Given the description of an element on the screen output the (x, y) to click on. 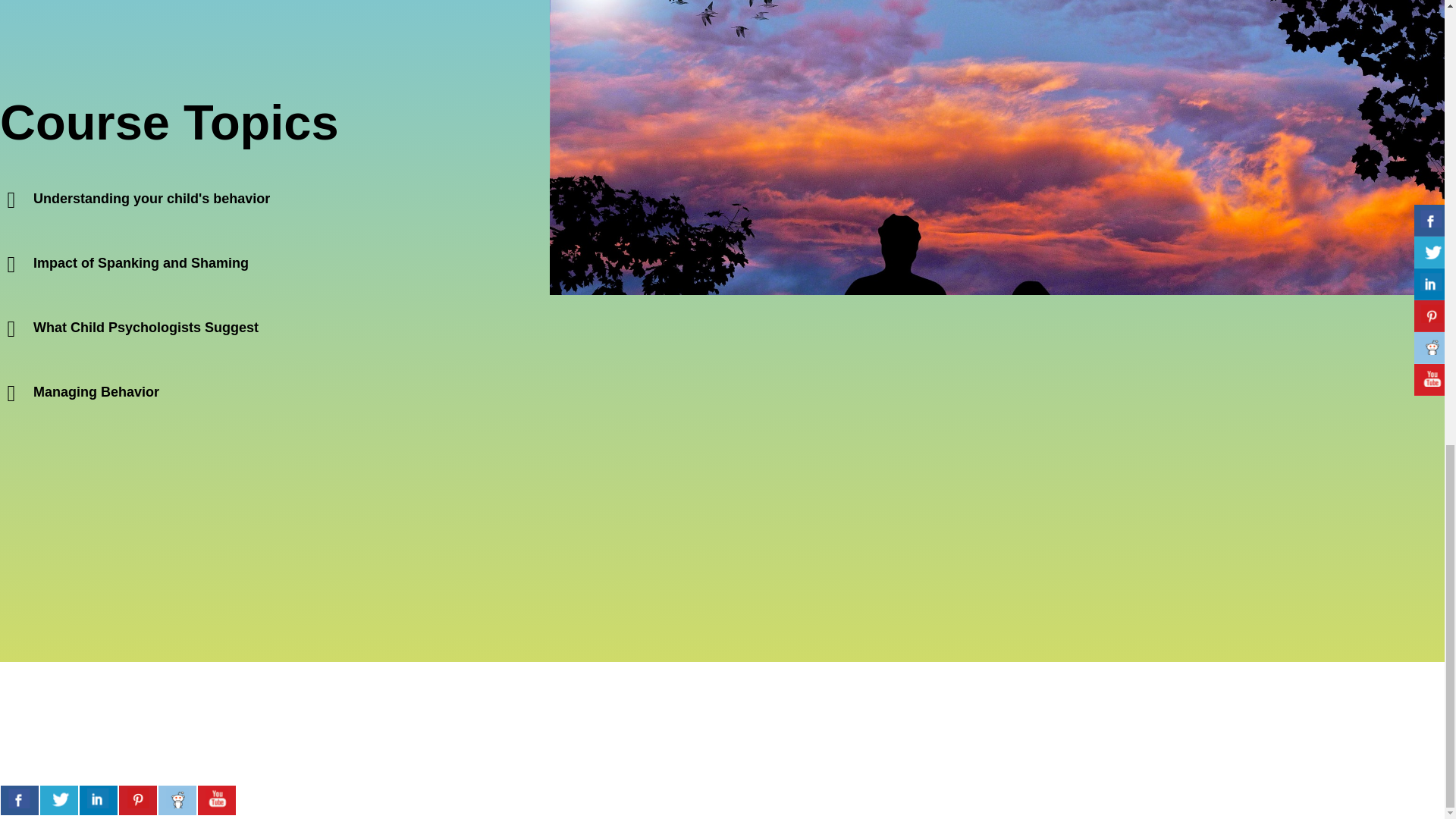
Share On Facebook (20, 799)
Share On Pinterest (138, 799)
Share On Reddit (177, 799)
Share On Linkedin (98, 799)
Share On Twitter (59, 799)
Share On Youtube (216, 799)
